Given the description of an element on the screen output the (x, y) to click on. 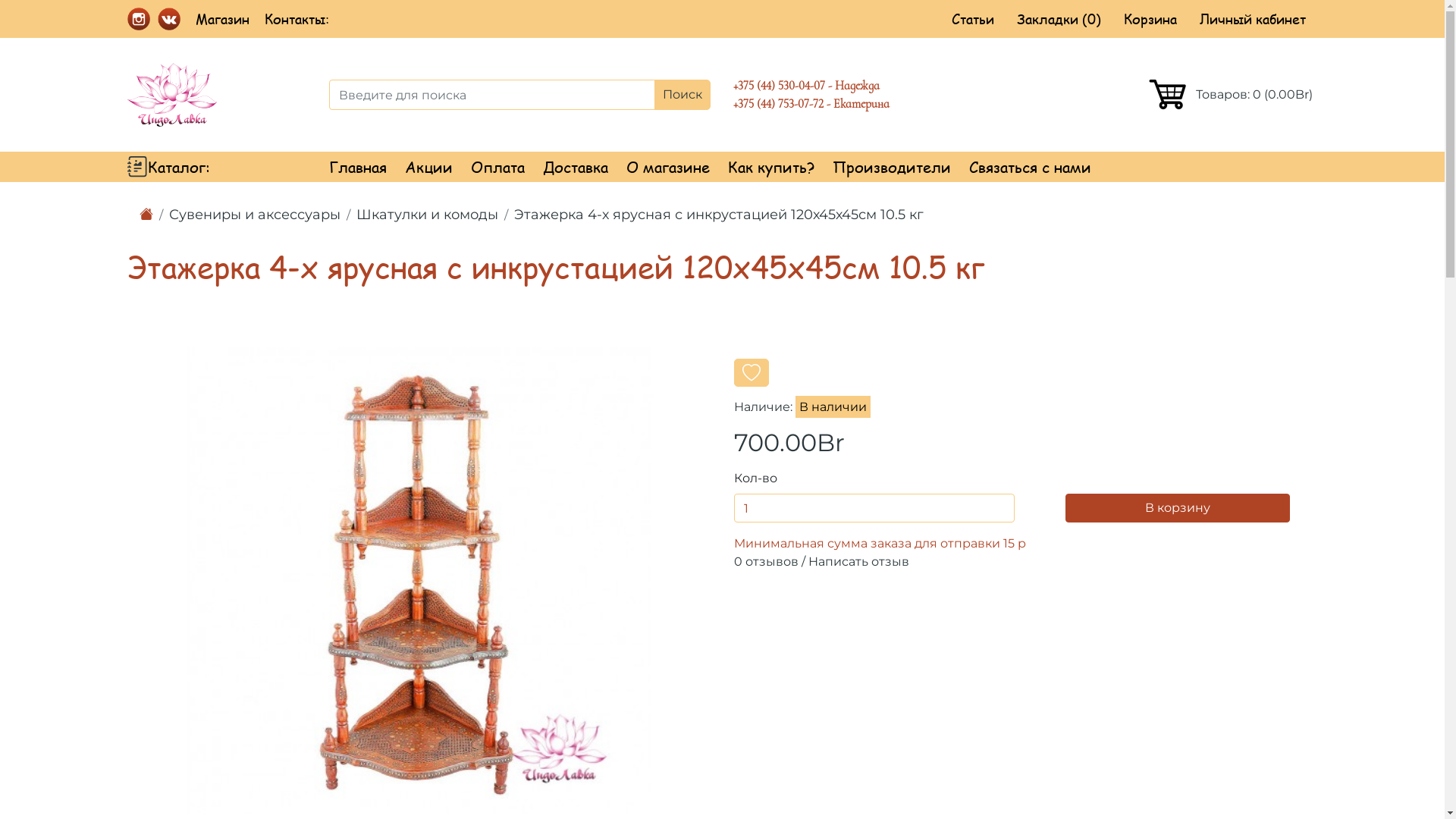
Instagram-Indolavka Element type: hover (138, 17)
Vk-Indolavka Element type: hover (168, 17)
